Given the description of an element on the screen output the (x, y) to click on. 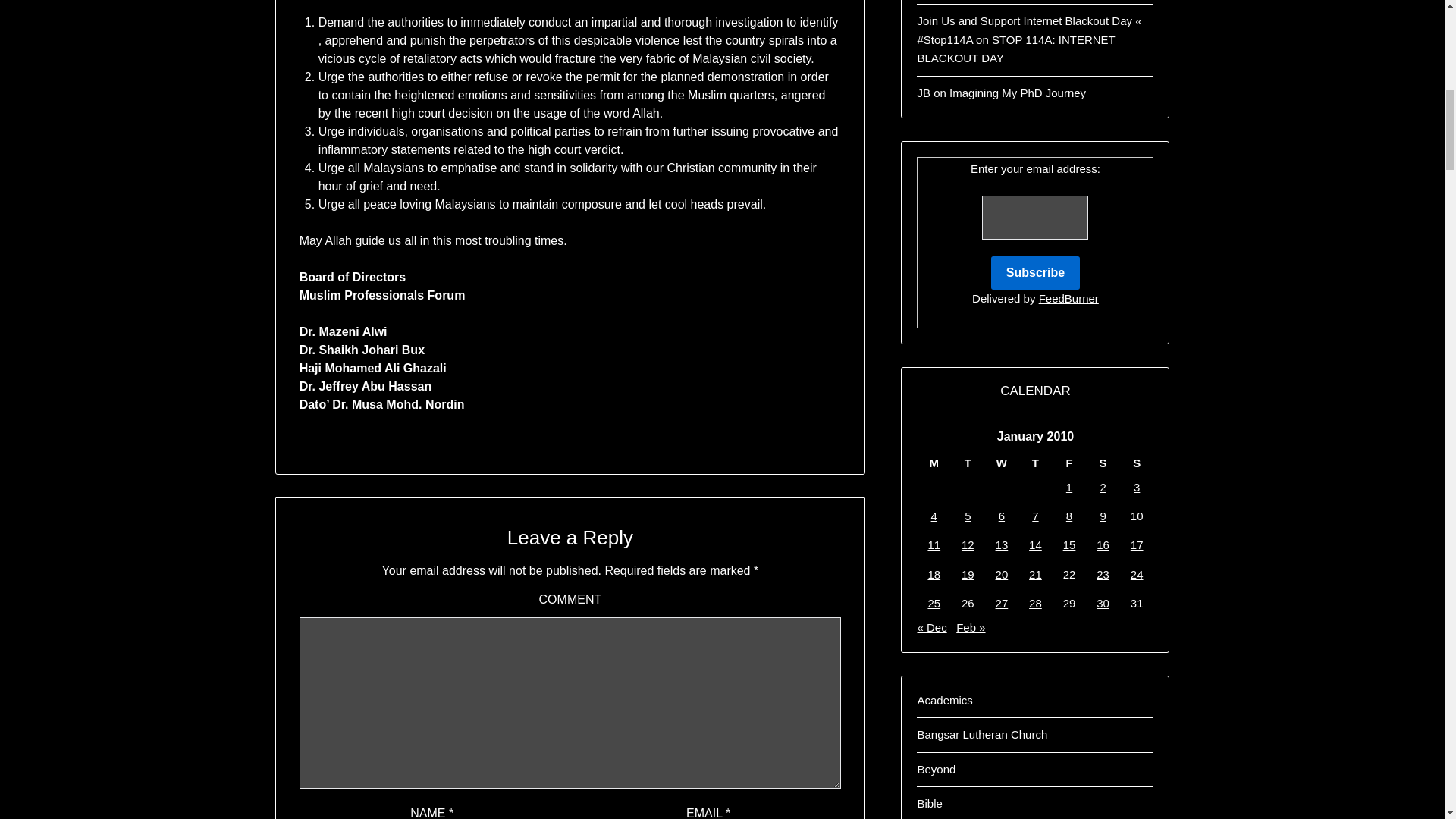
Friday (1069, 463)
Imagining My PhD Journey (1017, 92)
Saturday (1102, 463)
Monday (933, 463)
Thursday (1034, 463)
STOP 114A: INTERNET BLACKOUT DAY (1016, 48)
Tuesday (967, 463)
Wednesday (1002, 463)
11 (933, 544)
Subscribe (1035, 272)
